Given the description of an element on the screen output the (x, y) to click on. 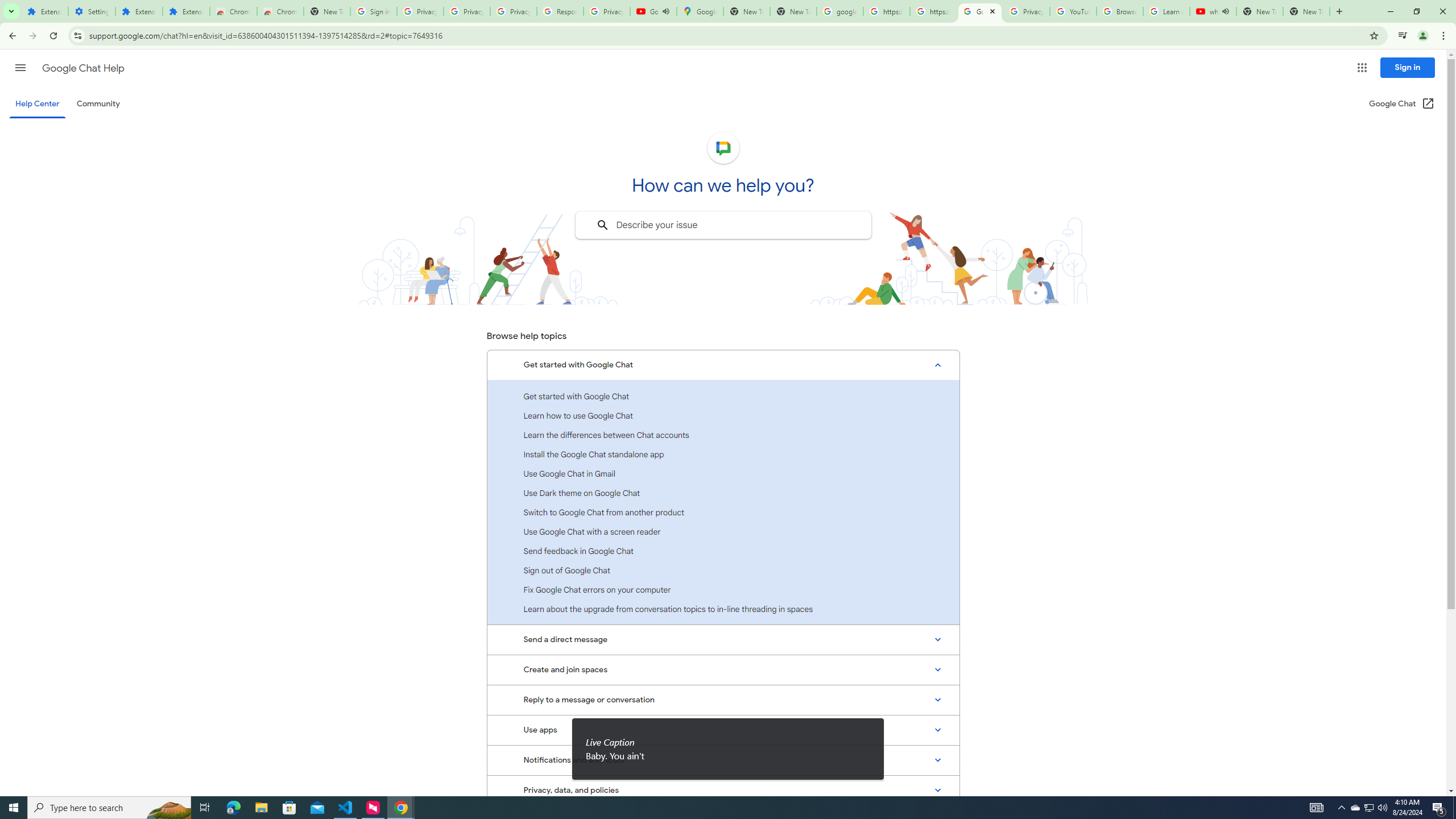
Sign in - Google Accounts (373, 11)
https://scholar.google.com/ (886, 11)
Fix Google Chat errors on your computer (722, 589)
Use Google Chat with a screen reader (722, 531)
Describe your issue to find information that might help you. (722, 225)
Community (97, 103)
Extensions (138, 11)
New Tab (326, 11)
